Given the description of an element on the screen output the (x, y) to click on. 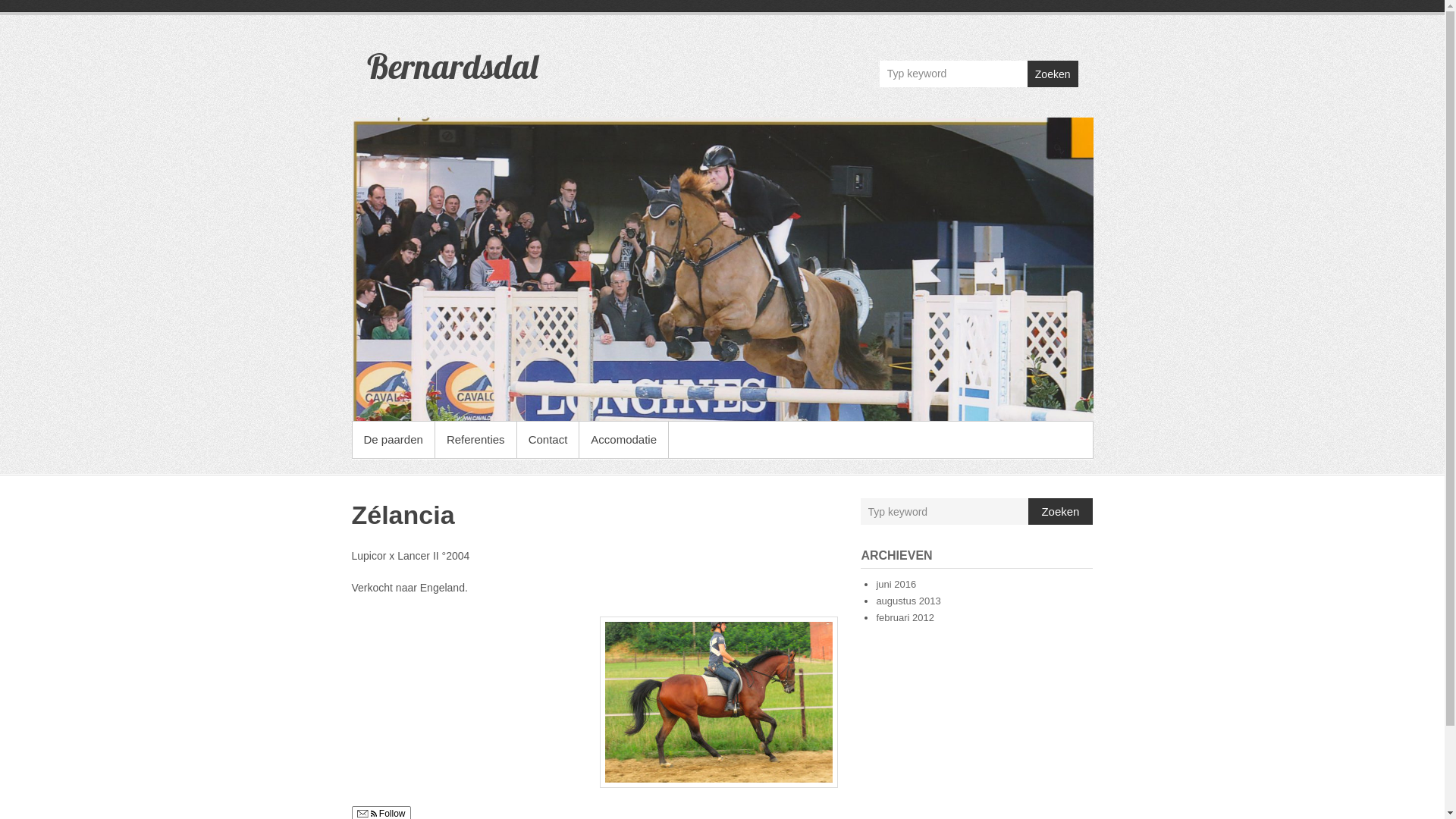
Contact Element type: text (548, 439)
Typ keyword Element type: hover (953, 73)
Bernardsdal Element type: hover (722, 268)
augustus 2013 Element type: text (907, 600)
Accomodatie Element type: text (623, 439)
Bernardsdal Element type: text (452, 65)
Zoeken Element type: text (1052, 73)
februari 2012 Element type: text (904, 617)
juni 2016 Element type: text (895, 583)
Typ keyword Element type: hover (944, 511)
Zoeken Element type: text (1060, 511)
Referenties Element type: text (475, 439)
De paarden Element type: text (392, 439)
